Given the description of an element on the screen output the (x, y) to click on. 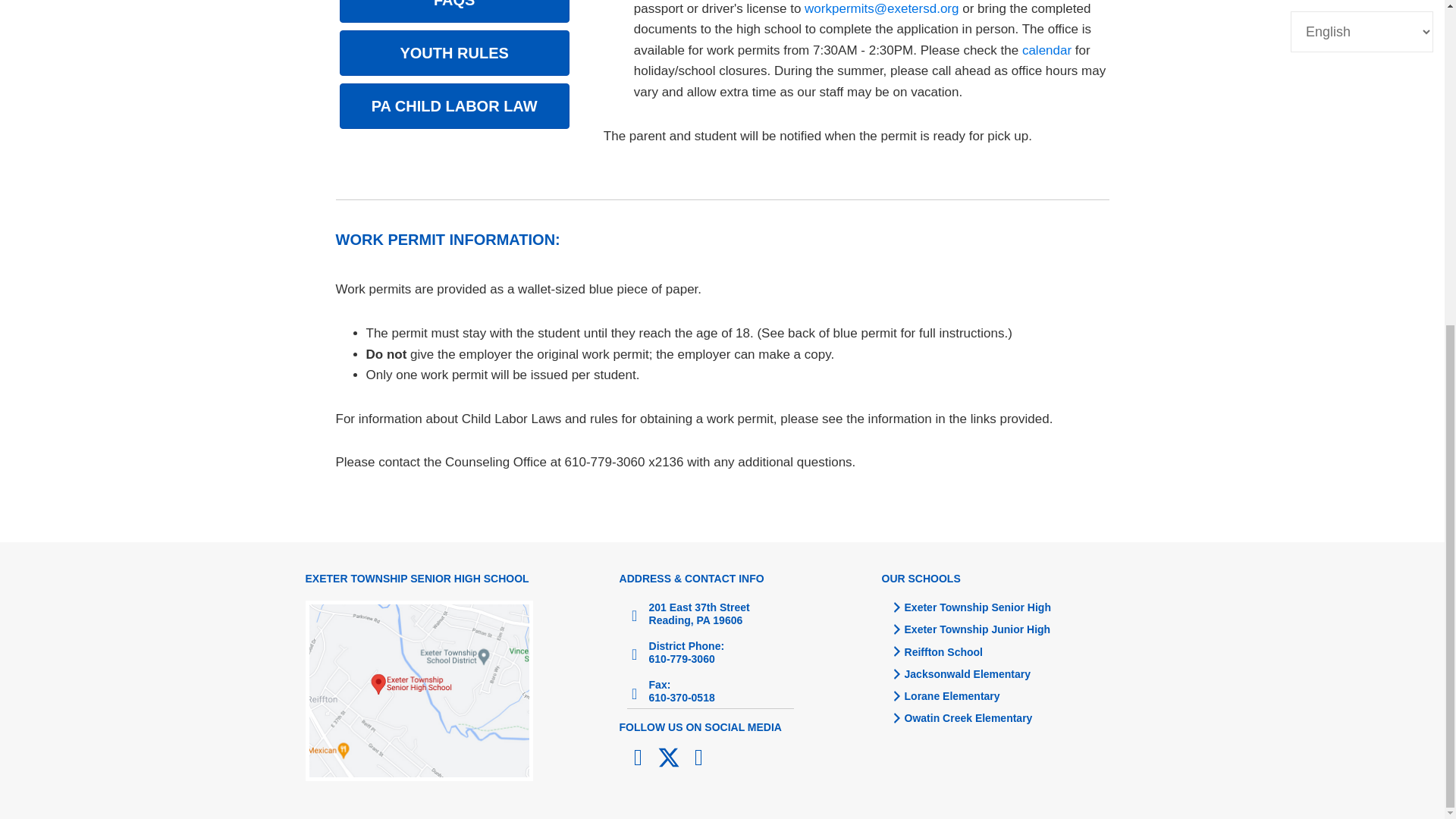
Facebook (638, 757)
hs (418, 690)
